Given the description of an element on the screen output the (x, y) to click on. 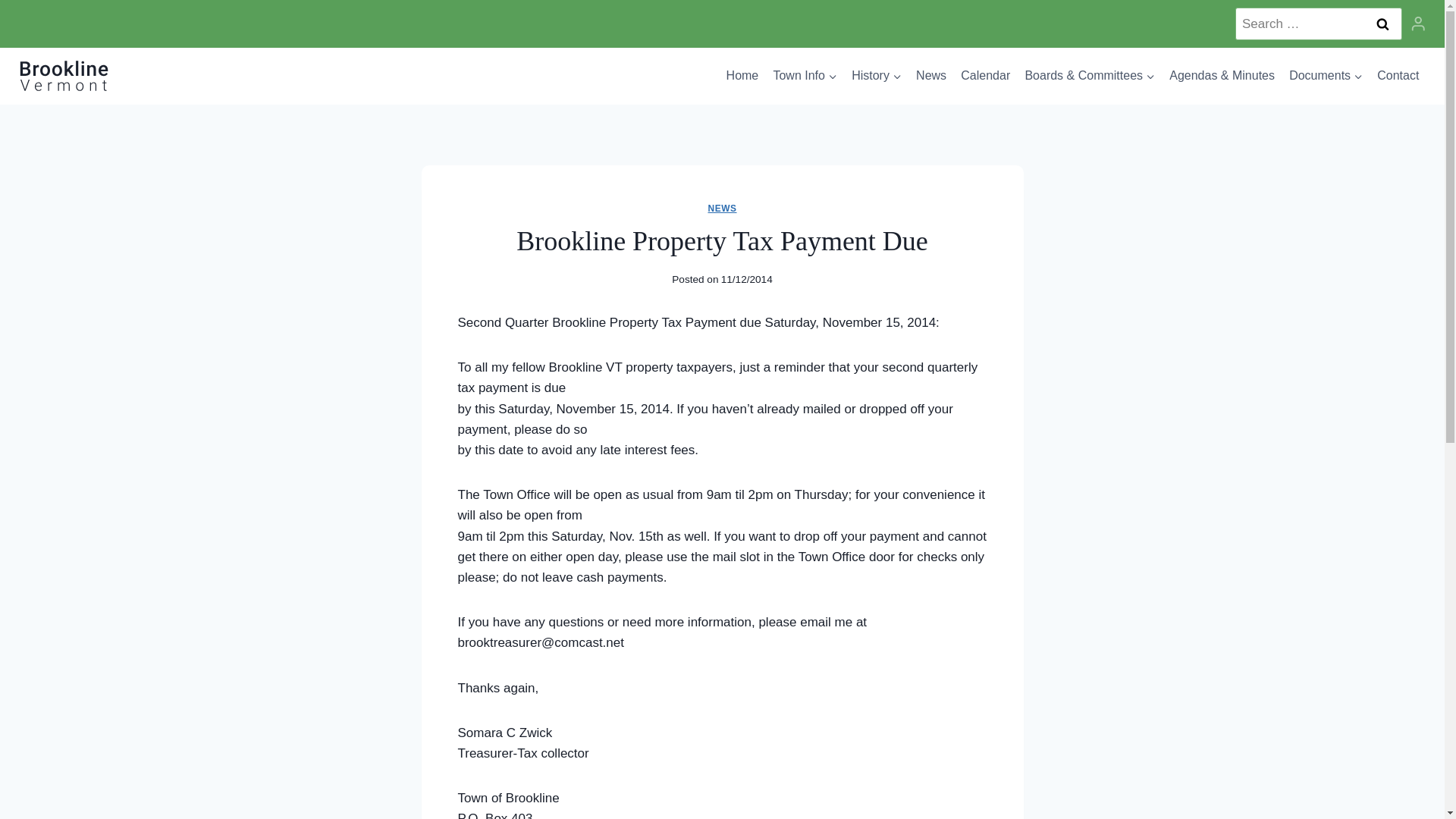
Search (1381, 23)
Town Info (804, 75)
Home (742, 75)
History (876, 75)
News (930, 75)
Search (1381, 23)
Contact (1398, 75)
Search (1381, 23)
Documents (1326, 75)
Calendar (985, 75)
